Given the description of an element on the screen output the (x, y) to click on. 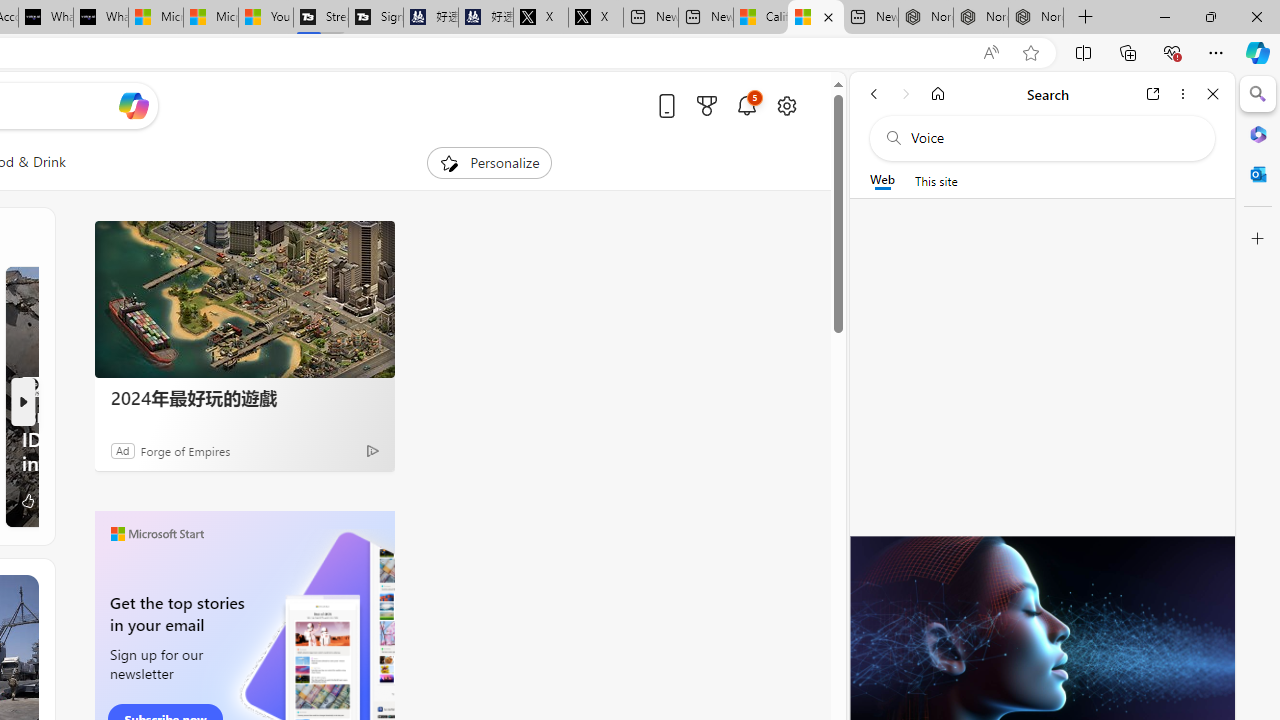
Web scope (882, 180)
Customize (1258, 239)
Home (938, 93)
Outlook (1258, 174)
Open link in new tab (1153, 93)
Forward (906, 93)
Streaming Coverage | T3 (321, 17)
